Given the description of an element on the screen output the (x, y) to click on. 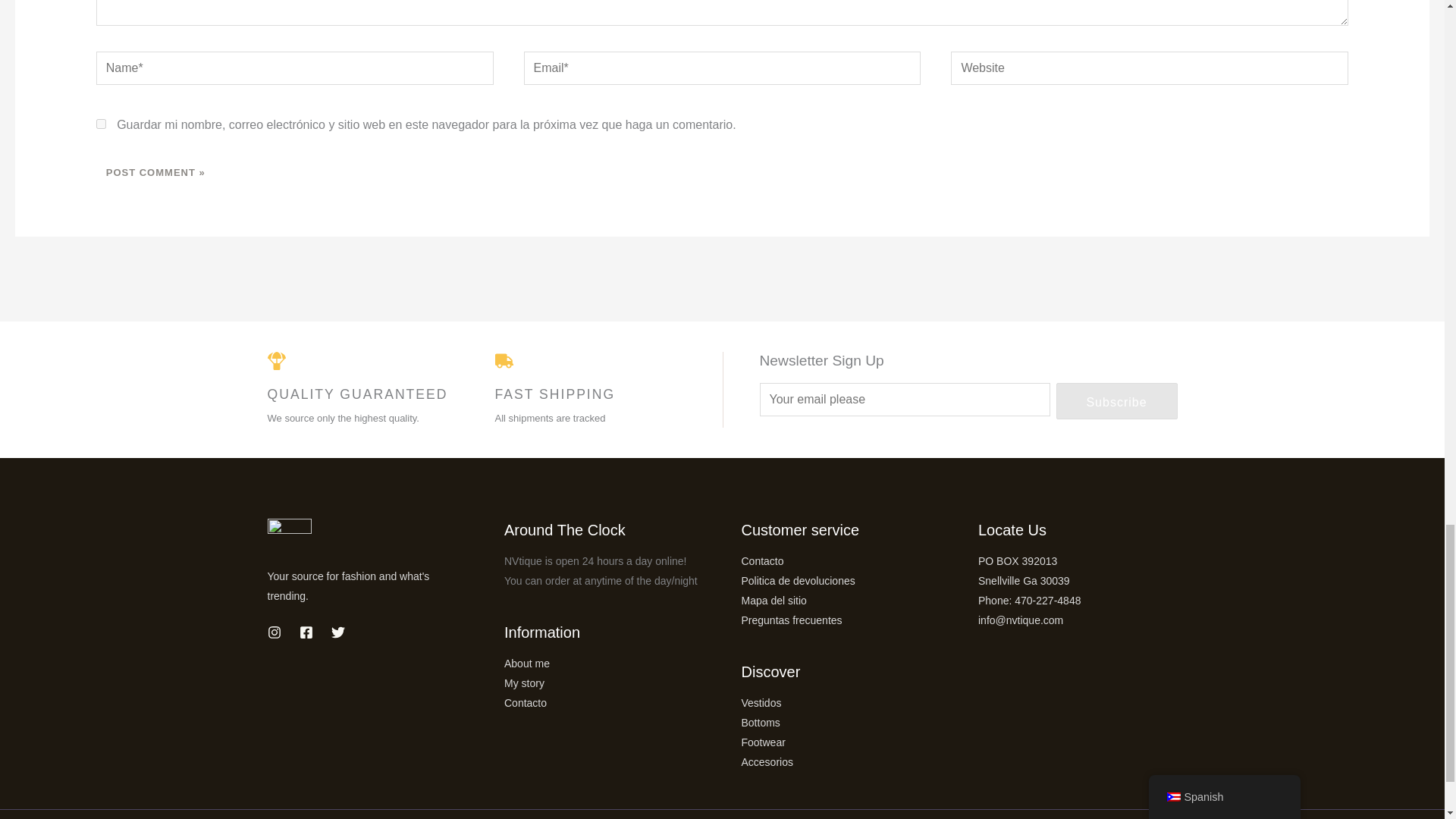
yes (101, 123)
